Given the description of an element on the screen output the (x, y) to click on. 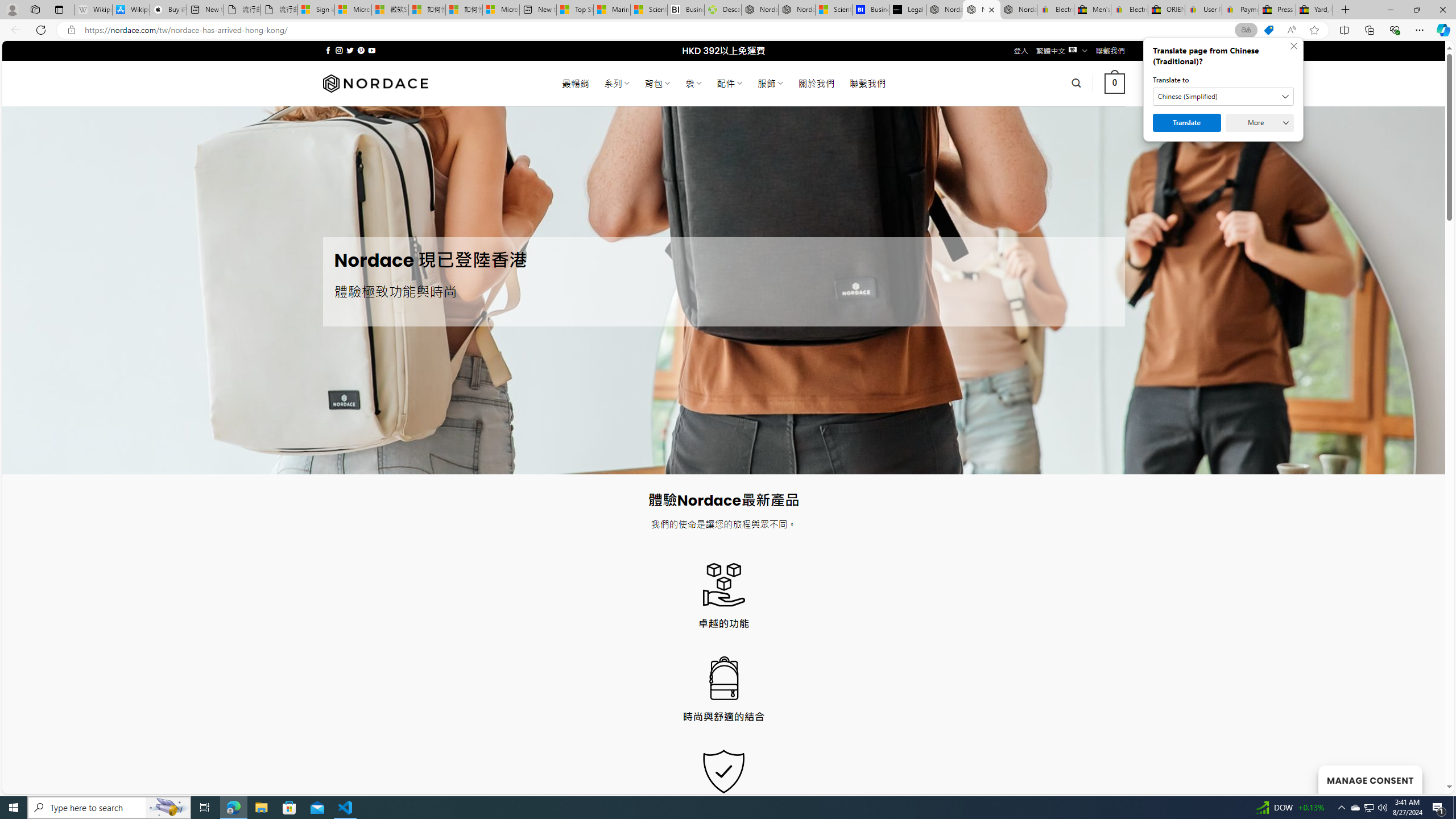
MANAGE CONSENT (1369, 779)
Follow on YouTube (371, 50)
